Given the description of an element on the screen output the (x, y) to click on. 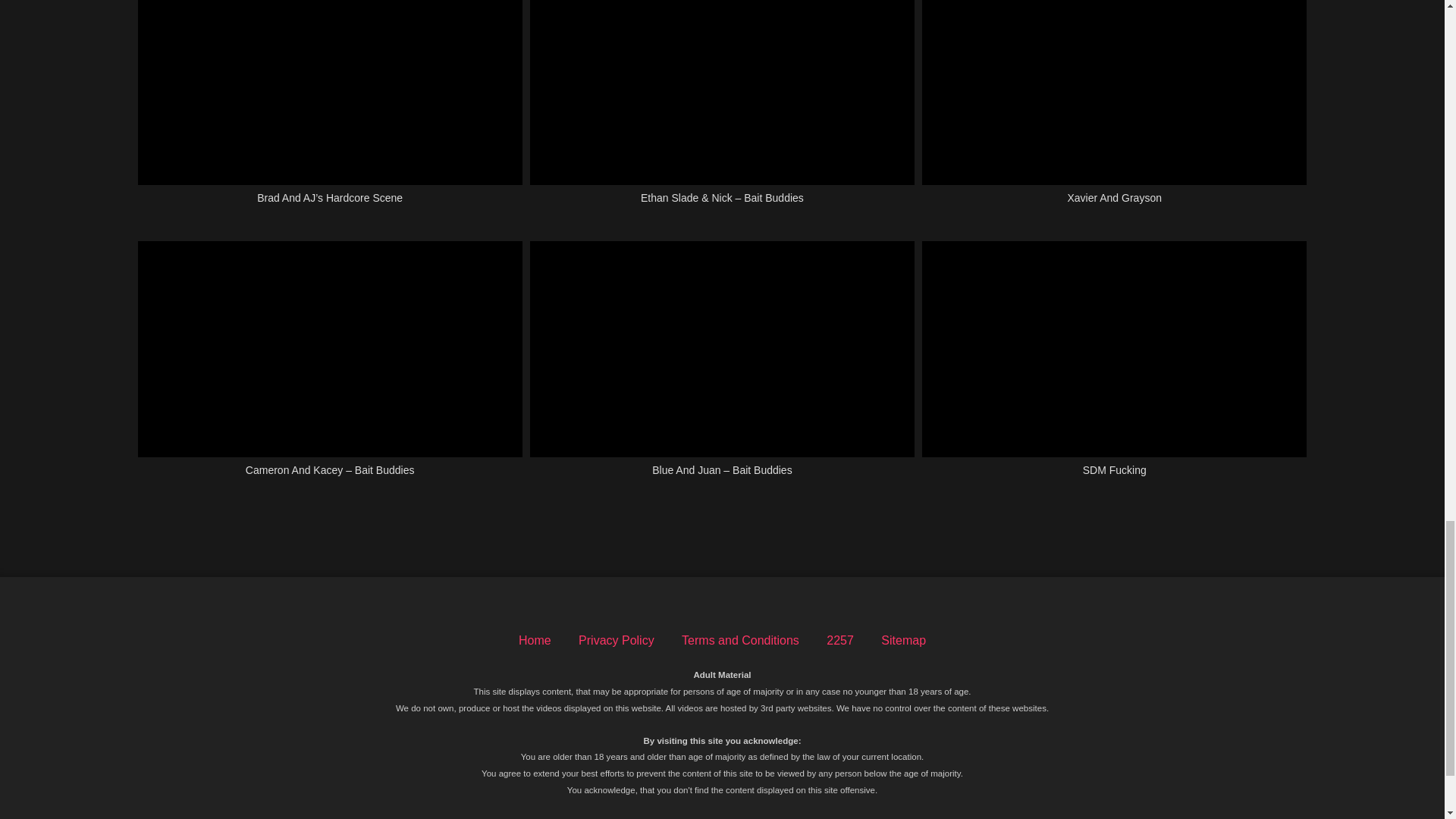
read this page (978, 818)
SDM Fucking (1113, 367)
Xavier And Grayson (1113, 110)
SDM Fucking (1113, 367)
Terms and Conditions (740, 640)
Home (534, 640)
Sitemap (903, 640)
Xavier And Grayson (1113, 110)
Privacy Policy (615, 640)
2257 (840, 640)
